Given the description of an element on the screen output the (x, y) to click on. 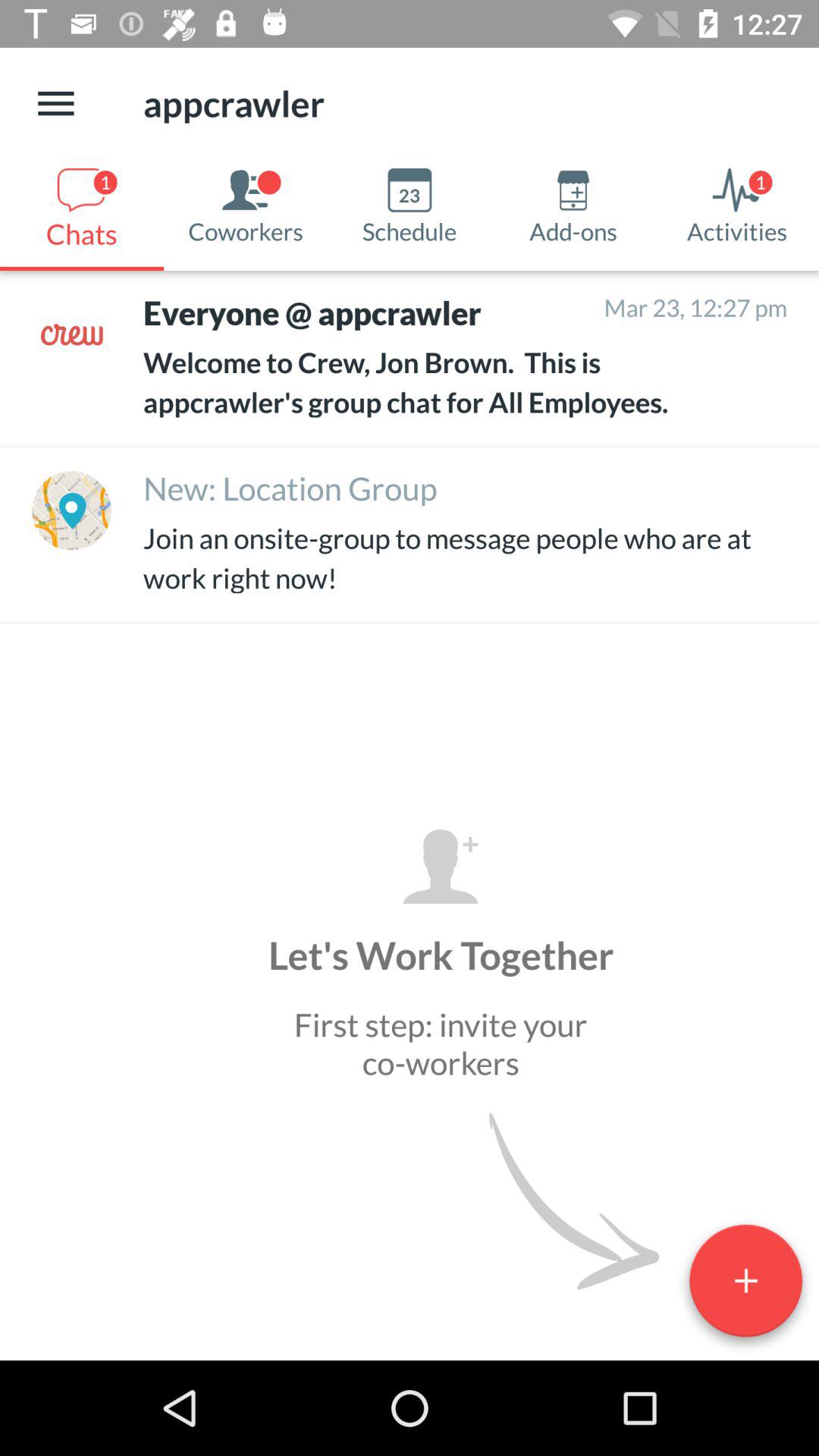
press the icon next to the appcrawler (55, 103)
